Given the description of an element on the screen output the (x, y) to click on. 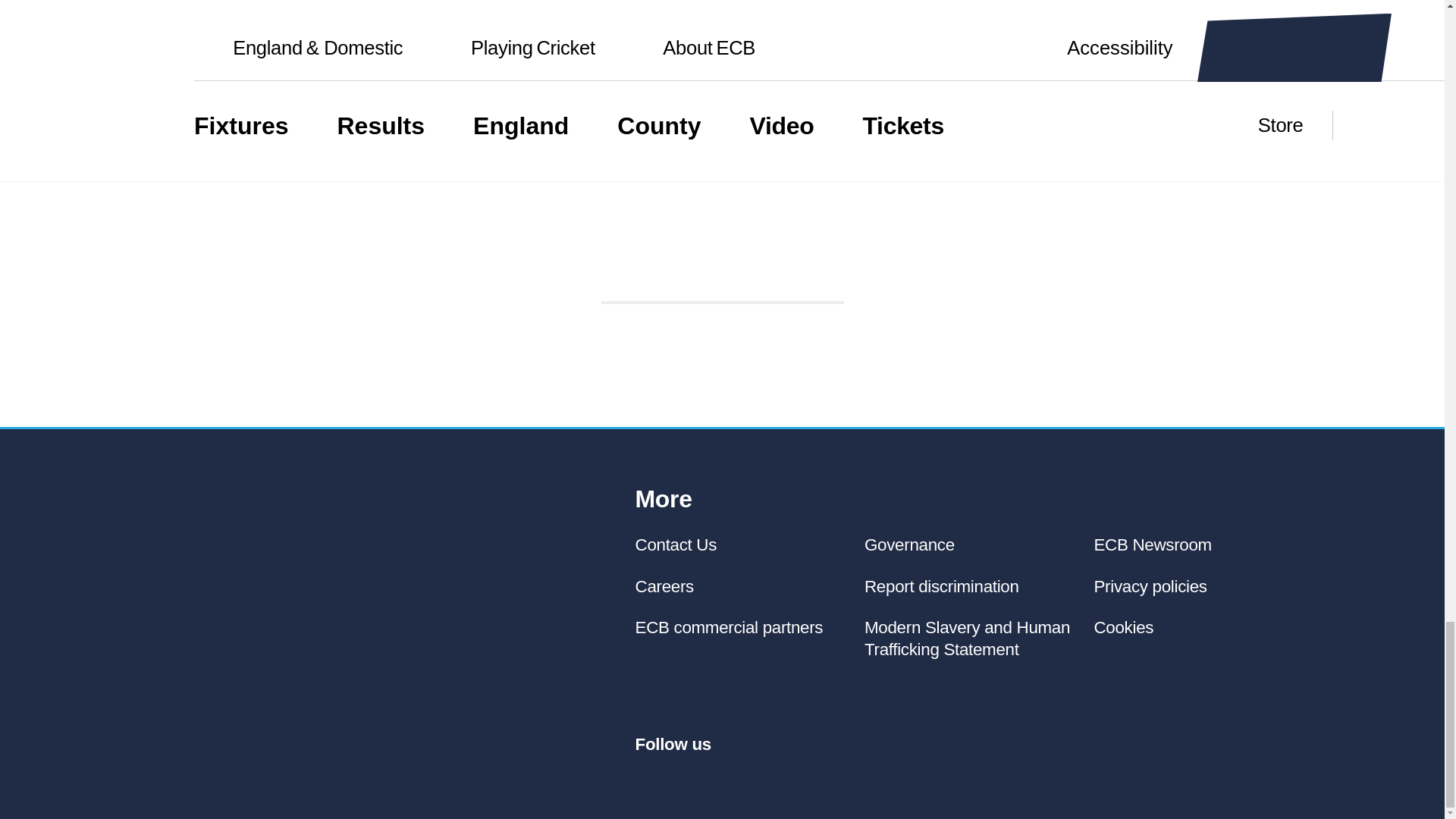
BBC Sport (794, 121)
Laithwaites (736, 254)
Cinch (722, 188)
Rado (861, 253)
Metro Bank (368, 254)
Castore (626, 253)
Vitality (483, 254)
Sky Sports (637, 121)
IG (558, 253)
Rothesay (224, 254)
